Given the description of an element on the screen output the (x, y) to click on. 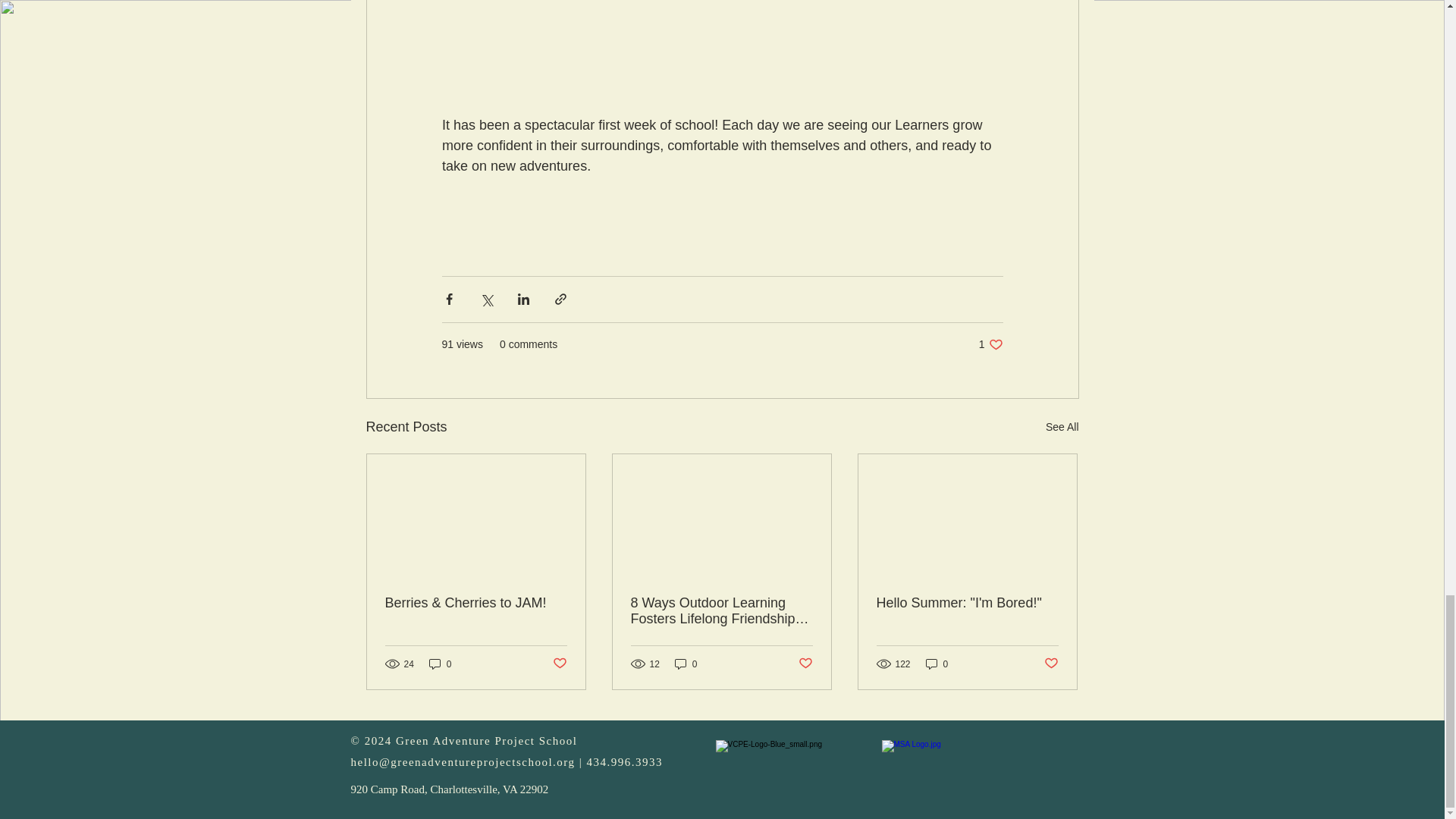
Post not marked as liked (558, 663)
0 (685, 663)
Hello Summer: "I'm Bored!" (967, 602)
Post not marked as liked (804, 663)
0 (990, 344)
See All (440, 663)
